Given the description of an element on the screen output the (x, y) to click on. 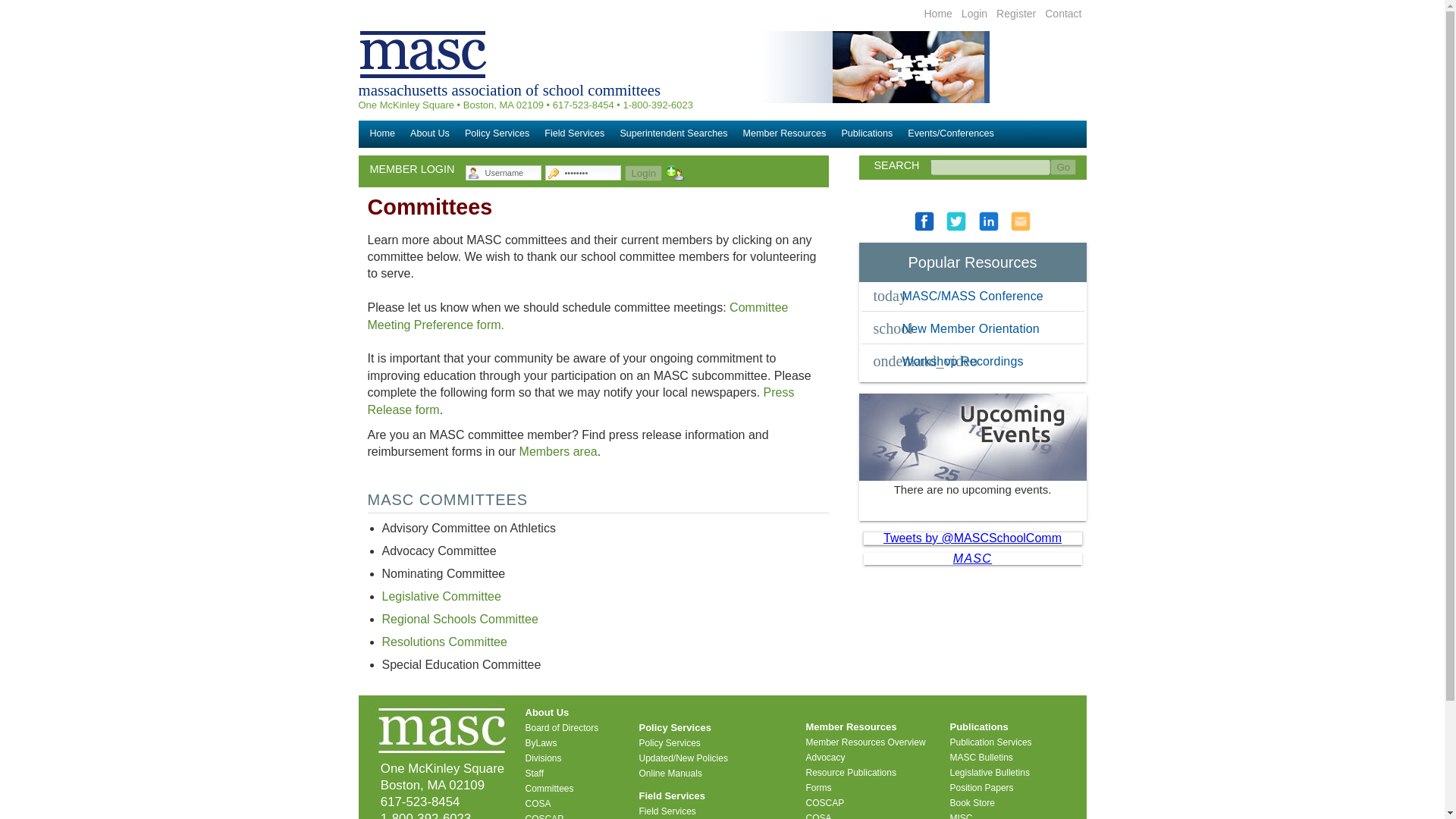
Home (937, 13)
Create an account (674, 172)
Register (1015, 13)
About MASC (429, 138)
Login (643, 172)
Password (592, 172)
Contact MASC Staff Members (1063, 13)
Username (512, 172)
MASC.org (937, 13)
About Us (429, 138)
